Given the description of an element on the screen output the (x, y) to click on. 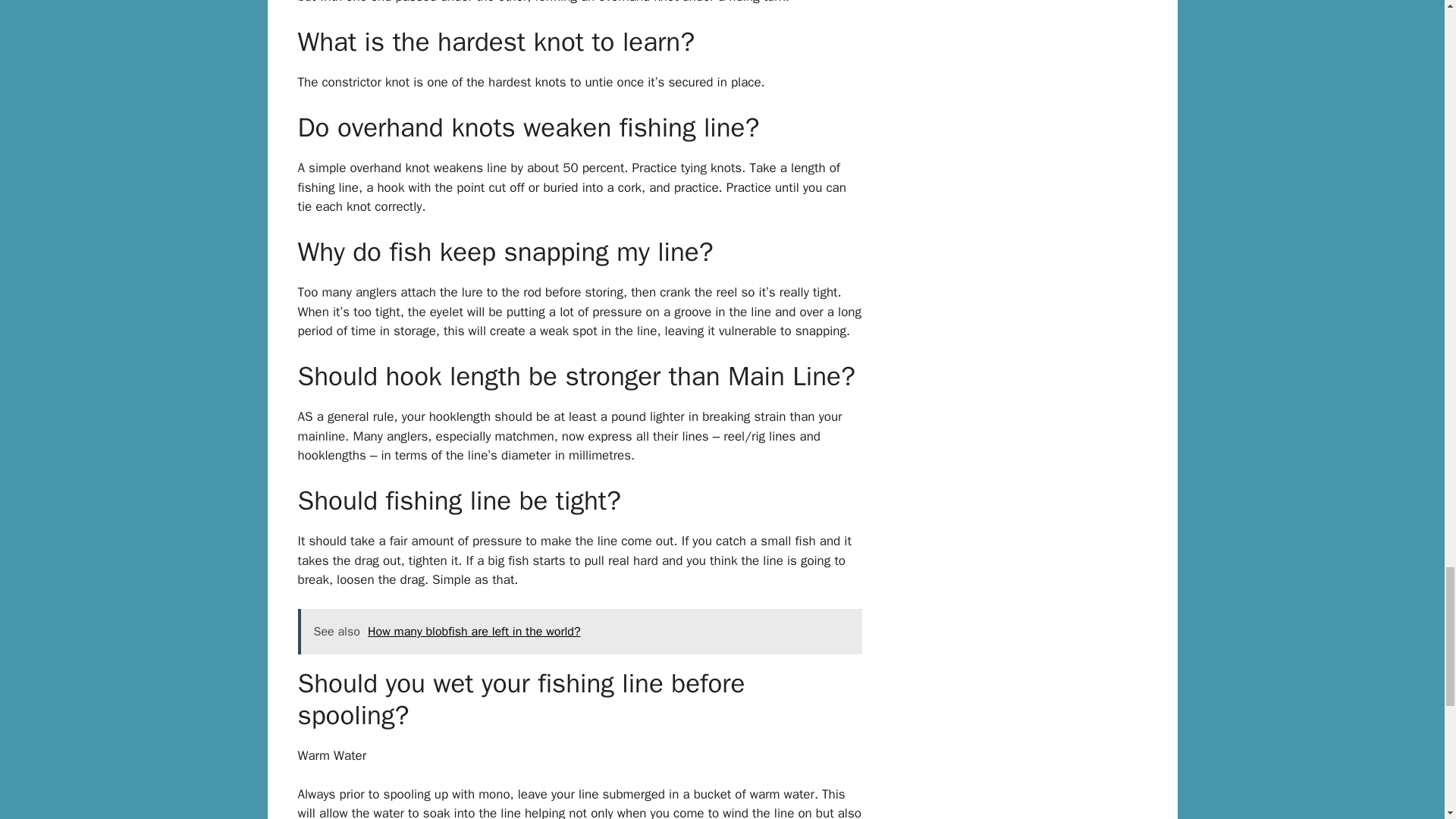
See also  How many blobfish are left in the world? (579, 631)
